Given the description of an element on the screen output the (x, y) to click on. 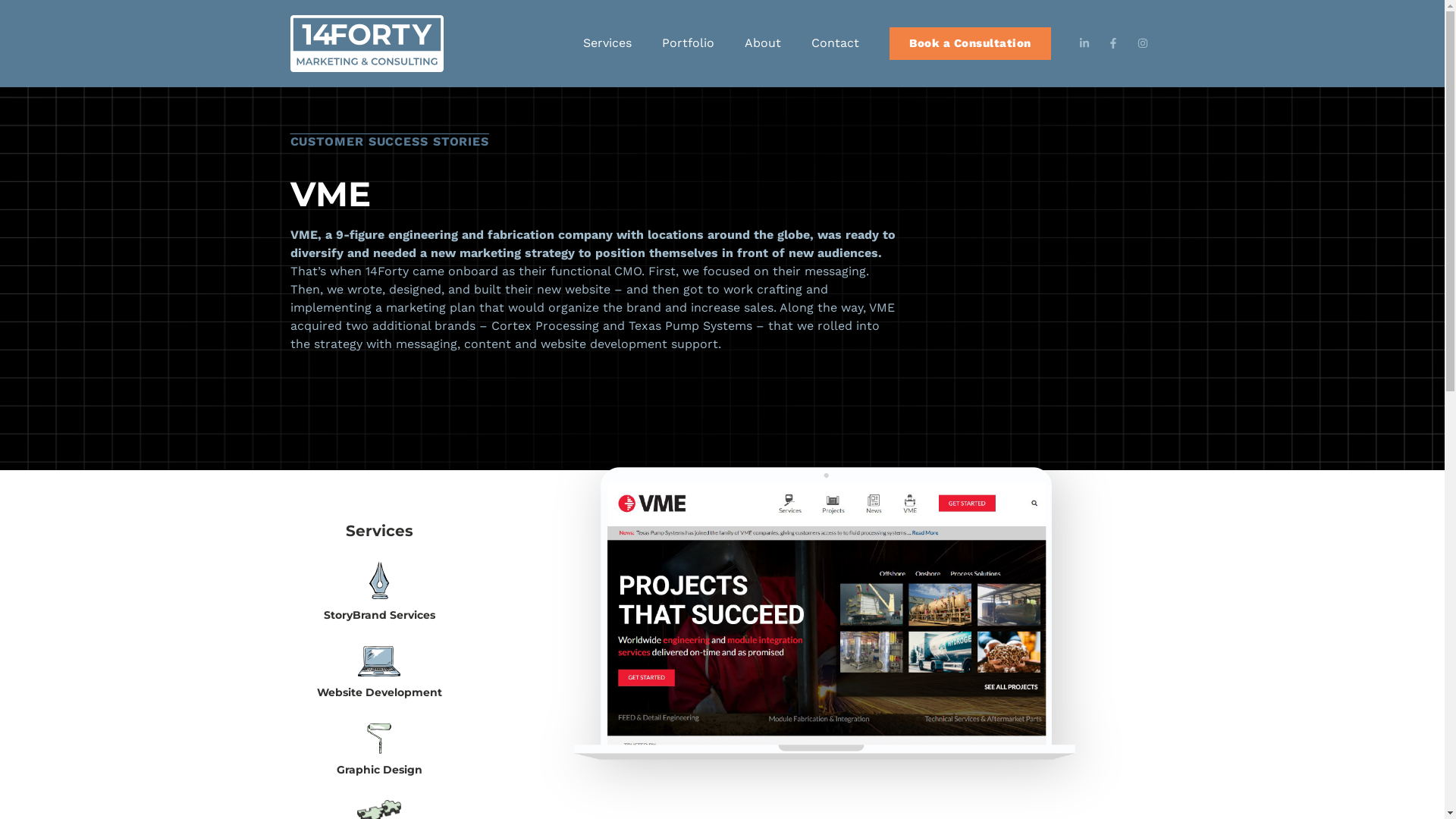
About Element type: text (762, 42)
Contact Element type: text (835, 42)
Book a Consultation Element type: text (970, 43)
Services Element type: text (606, 42)
Portfolio Element type: text (687, 42)
